Given the description of an element on the screen output the (x, y) to click on. 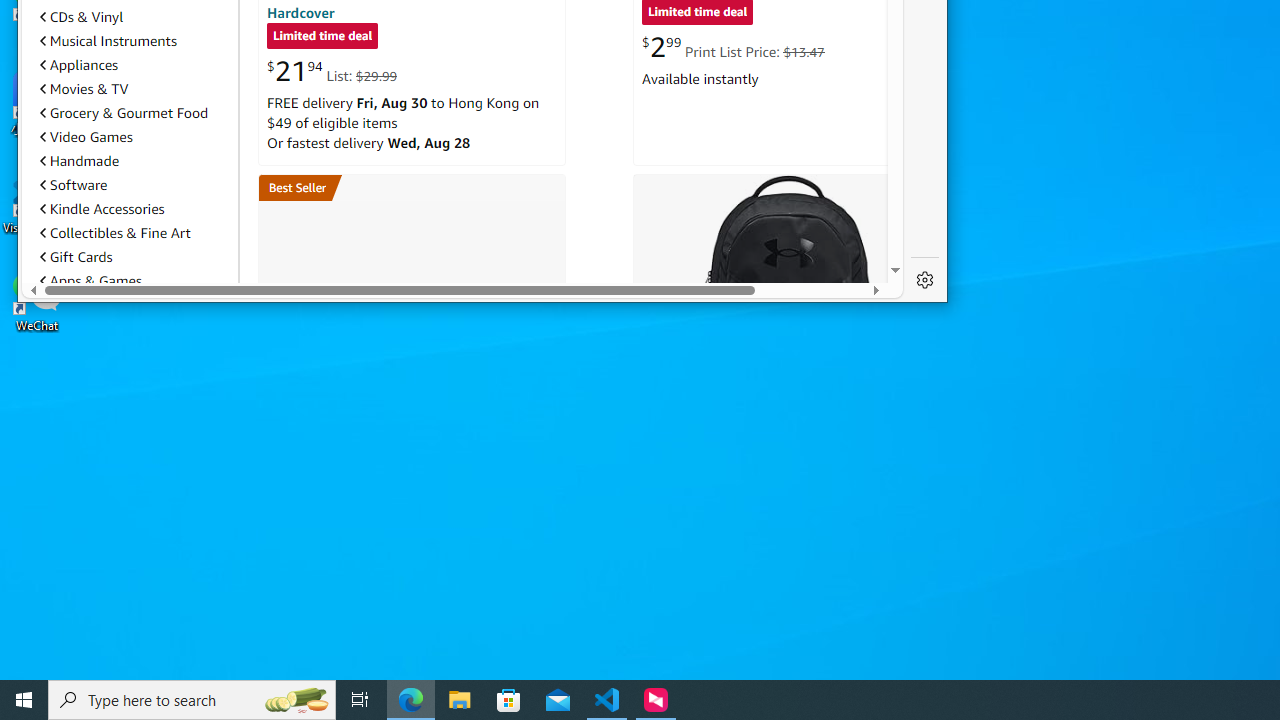
Microsoft Edge - 1 running window (411, 699)
Gift Cards (75, 256)
Handmade (135, 161)
Grocery & Gourmet Food (135, 112)
Movies & TV (135, 89)
Task View (359, 699)
Visual Studio Code - 1 running window (607, 699)
Limited time deal (322, 37)
Apps & Games (135, 280)
Grocery & Gourmet Food (123, 112)
Software (73, 184)
CDs & Vinyl (81, 16)
Musical Instruments (107, 40)
